Given the description of an element on the screen output the (x, y) to click on. 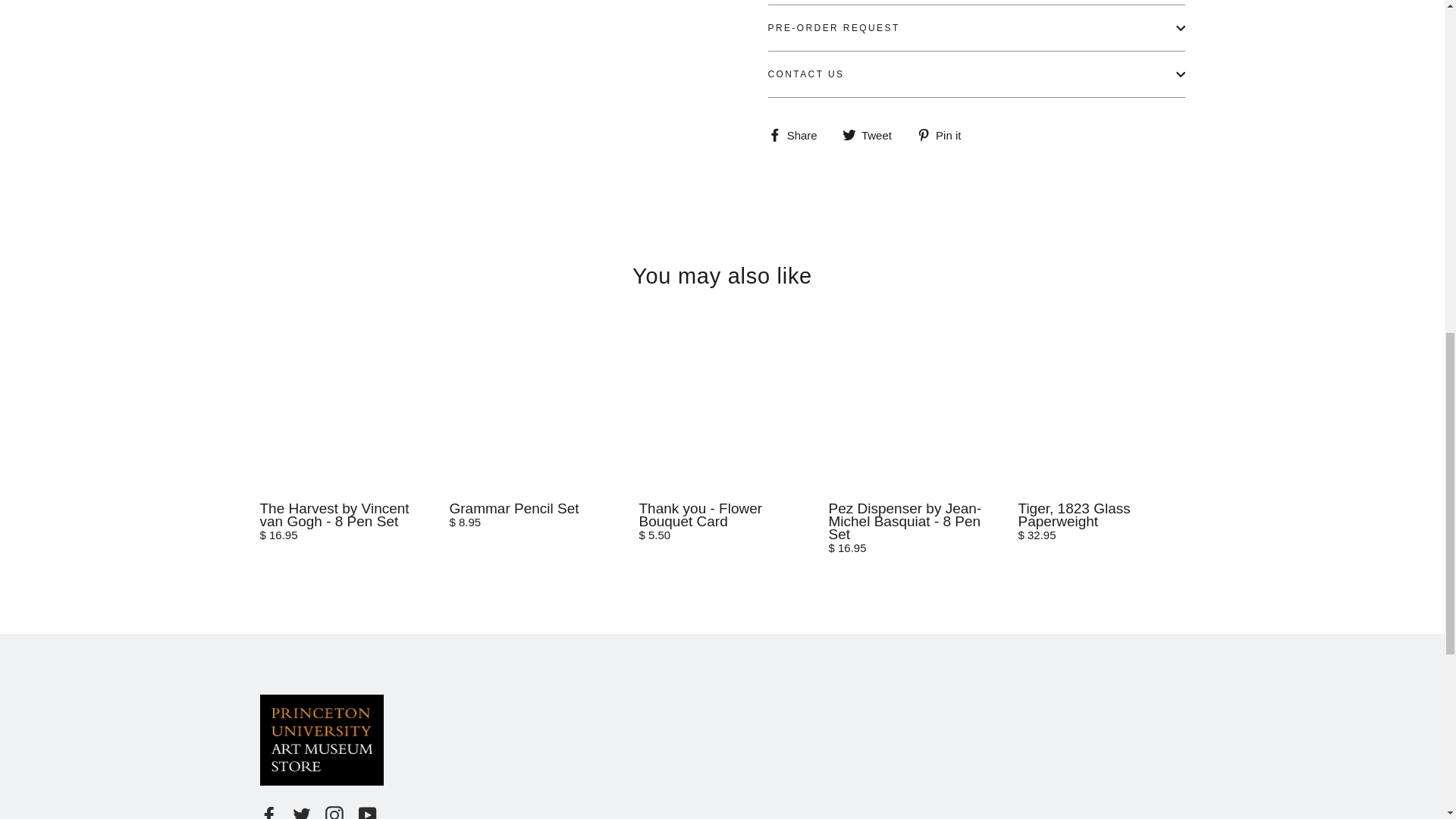
Princeton University Art Museum Store on Twitter (301, 812)
Princeton University Art Museum Store on YouTube (367, 812)
Princeton University Art Museum Store on Instagram (333, 812)
Pin on Pinterest (944, 134)
Share on Facebook (797, 134)
Tweet on Twitter (872, 134)
Princeton University Art Museum Store on Facebook (268, 812)
